Given the description of an element on the screen output the (x, y) to click on. 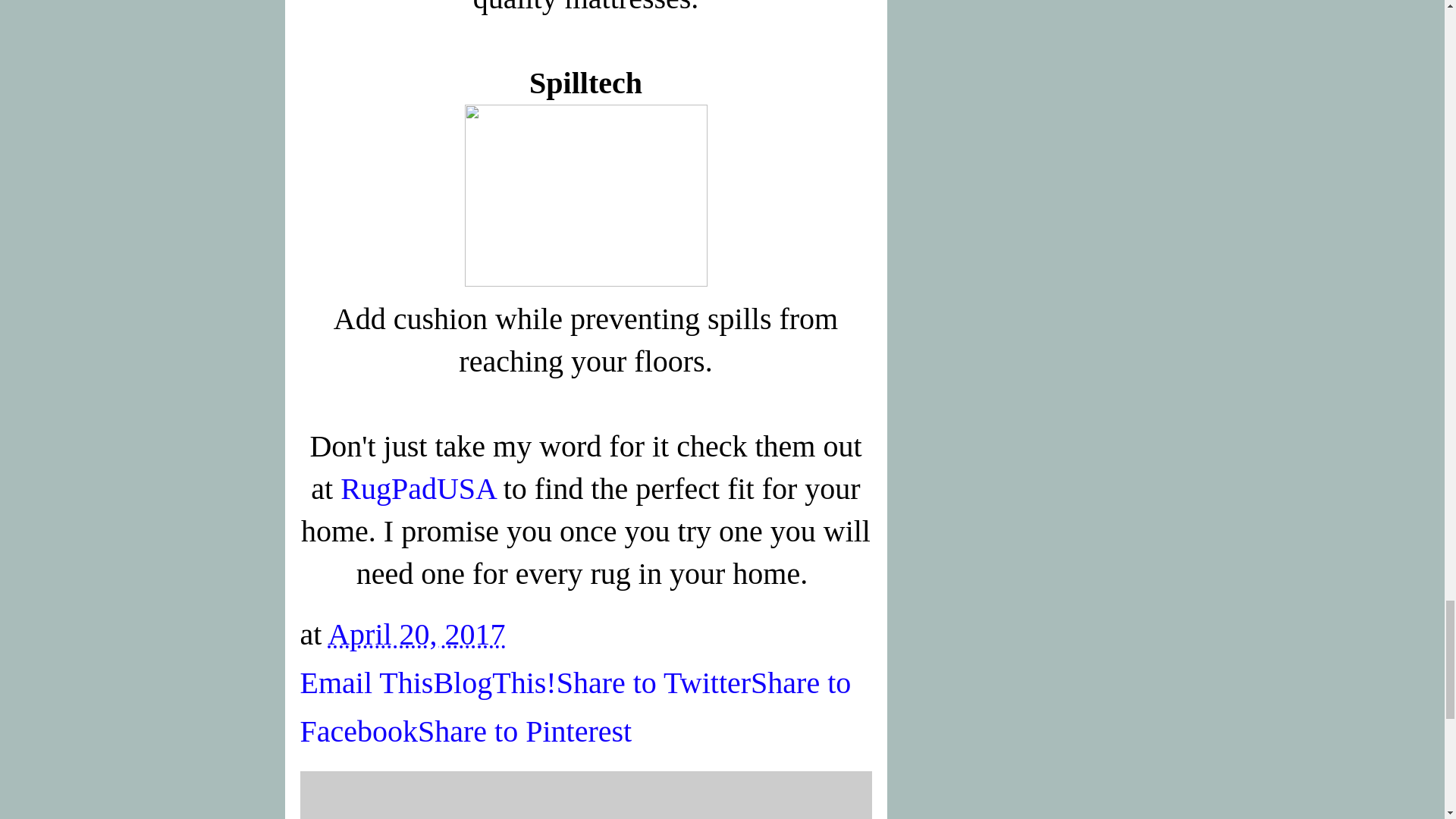
April 20, 2017 (416, 634)
permanent link (416, 634)
Email This (366, 682)
Share to Pinterest (524, 731)
Share to Facebook (575, 706)
BlogThis! (494, 682)
Share to Twitter (653, 682)
RugPadUSA (418, 488)
Share to Twitter (653, 682)
Share to Pinterest (524, 731)
